Given the description of an element on the screen output the (x, y) to click on. 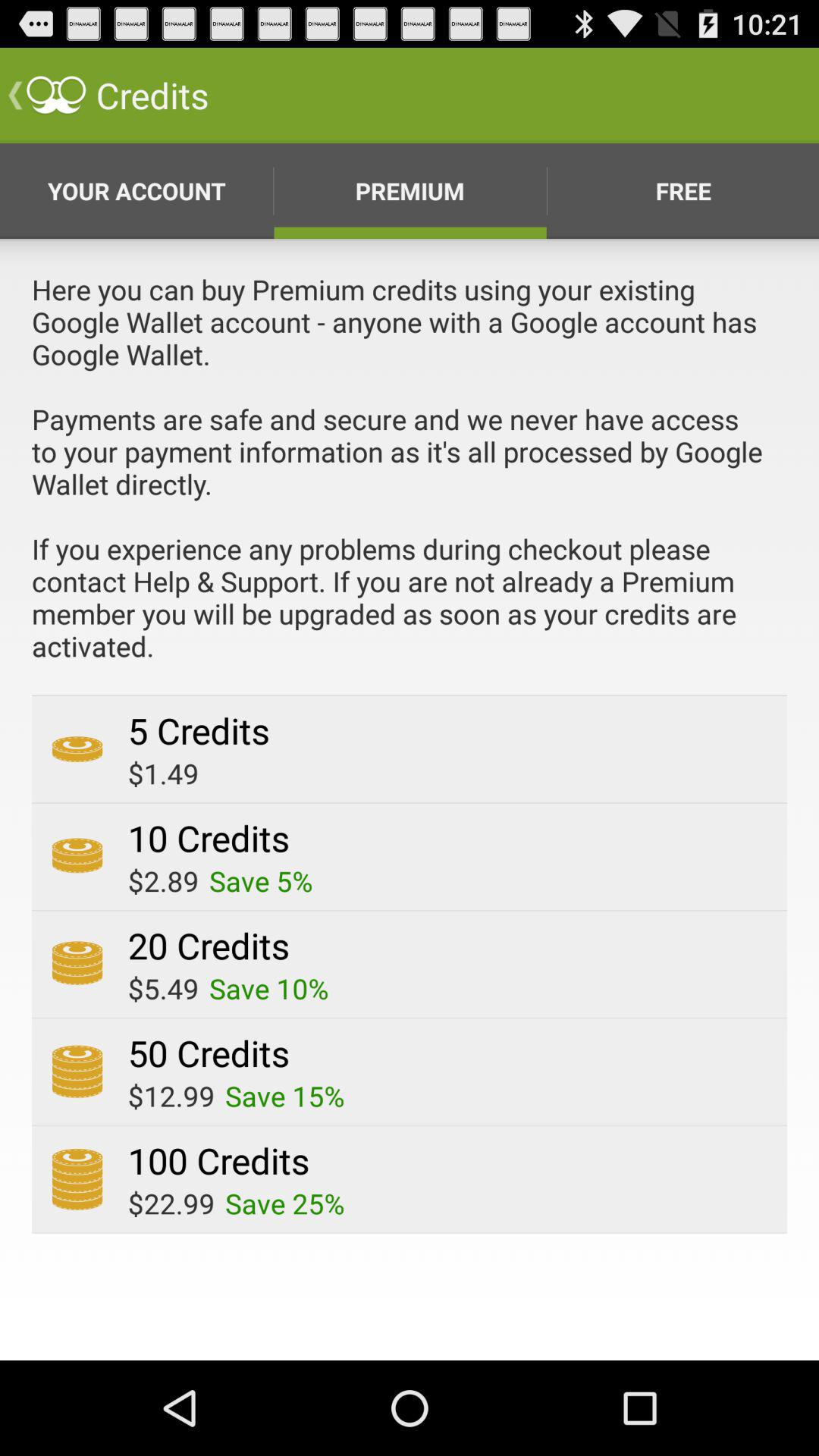
tap the app below the 10 credits icon (163, 880)
